Given the description of an element on the screen output the (x, y) to click on. 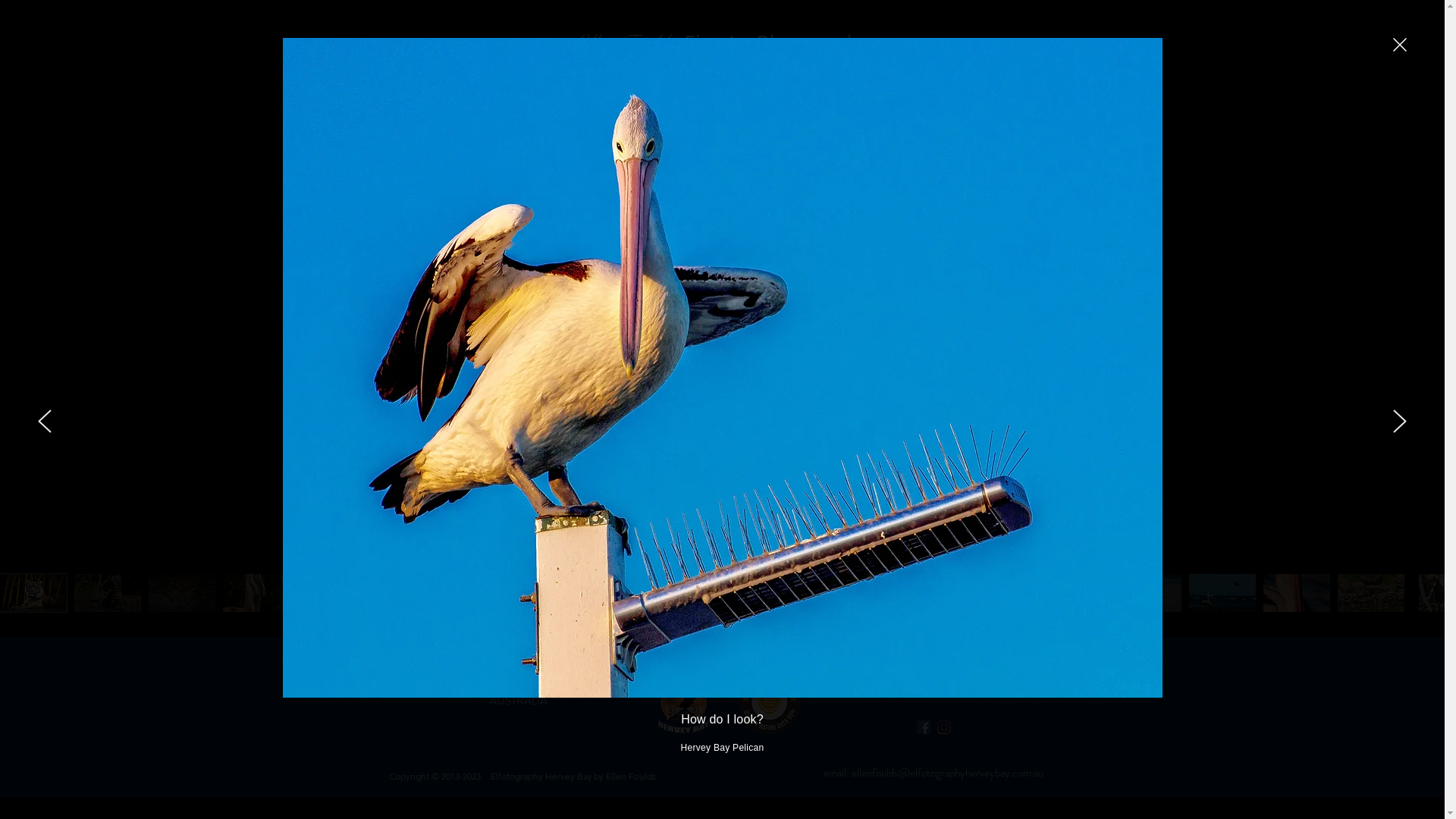
Limited Edition Element type: text (581, 153)
Behind the Lens Element type: text (829, 153)
Home Element type: text (412, 153)
Get In Touch Element type: text (923, 153)
Open Edition Element type: text (485, 153)
ellenfoulds@elfotographyherveybay.com.au Element type: text (946, 772)
Services Element type: text (663, 153)
Workshops Element type: text (736, 153)
Online Store Element type: text (1013, 153)
